Given the description of an element on the screen output the (x, y) to click on. 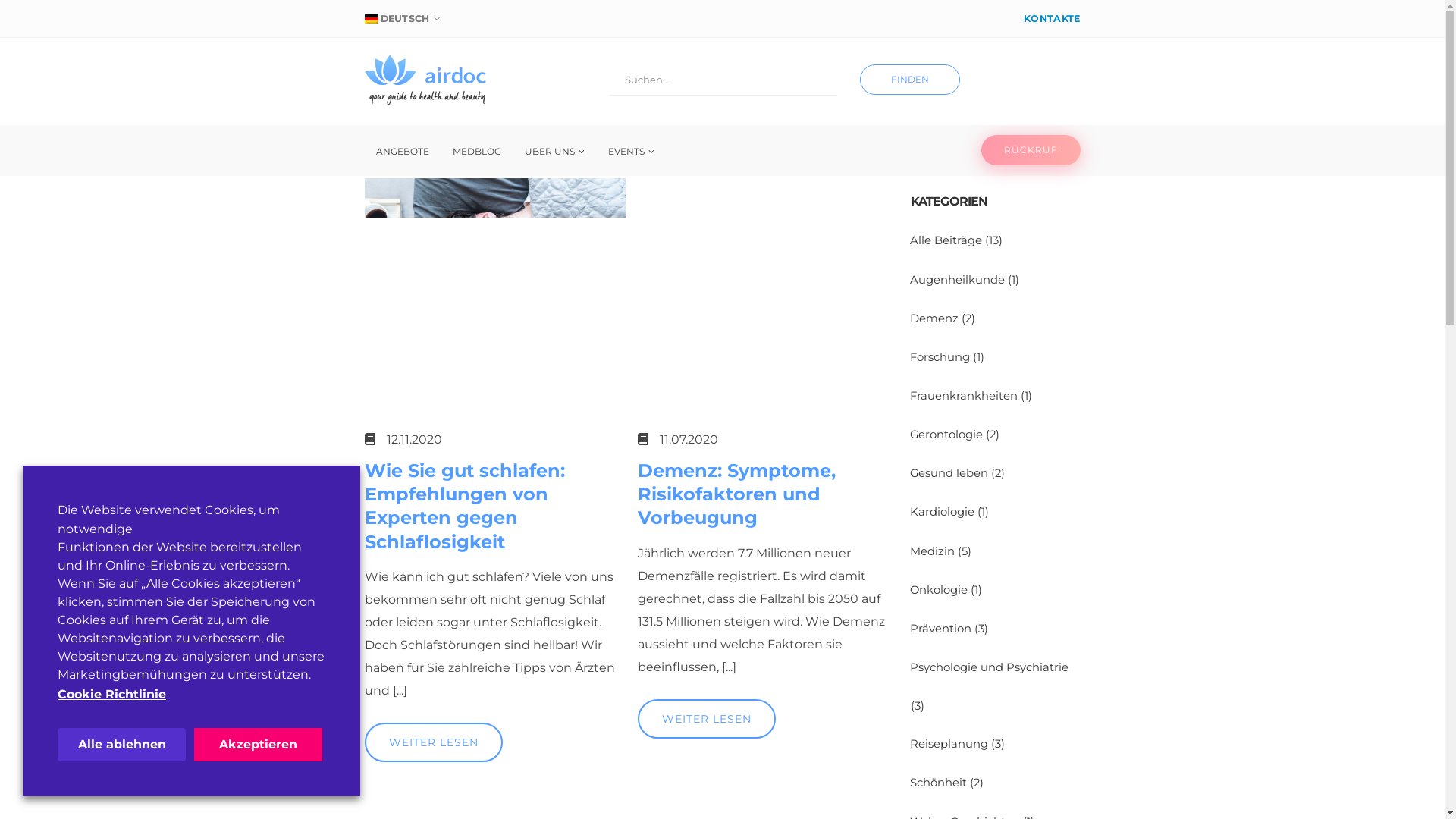
Gerontologie Element type: text (946, 434)
Frauenkrankheiten Element type: text (963, 395)
Demenz: Symptome, Risikofaktoren und Vorbeugung Element type: text (767, 494)
KONTAKTE Element type: text (1049, 18)
ANGEBOTE Element type: text (401, 151)
Cookie Richtlinie Element type: text (111, 694)
Kardiologie Element type: text (942, 511)
EVENTS Element type: text (630, 151)
Forschung Element type: text (939, 357)
Demenz Element type: text (934, 318)
FINDEN Element type: text (909, 79)
WEITER LESEN Element type: text (706, 718)
Reiseplanung Element type: text (949, 743)
Medizin Element type: text (932, 551)
Gesund leben Element type: text (949, 473)
Onkologie Element type: text (938, 589)
MEDBLOG Element type: text (476, 151)
Alle ablehnen Element type: text (121, 744)
Psychologie und Psychiatrie Element type: text (989, 667)
Akzeptieren Element type: text (258, 744)
UBER UNS Element type: text (553, 151)
Augenheilkunde Element type: text (957, 279)
WEITER LESEN Element type: text (433, 742)
DEUTSCH Element type: text (403, 18)
